Given the description of an element on the screen output the (x, y) to click on. 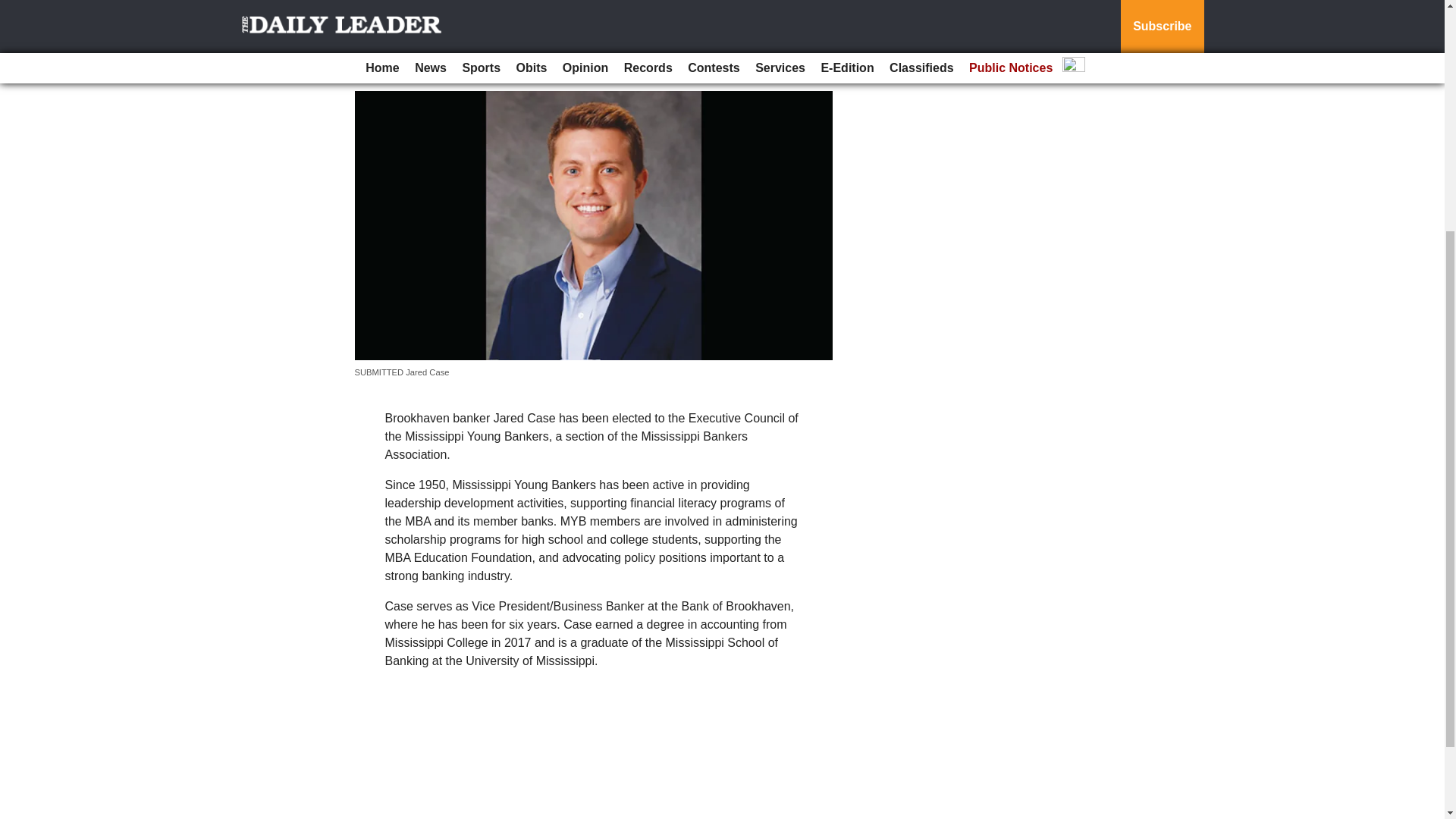
Daily Leader Staff (403, 71)
